Given the description of an element on the screen output the (x, y) to click on. 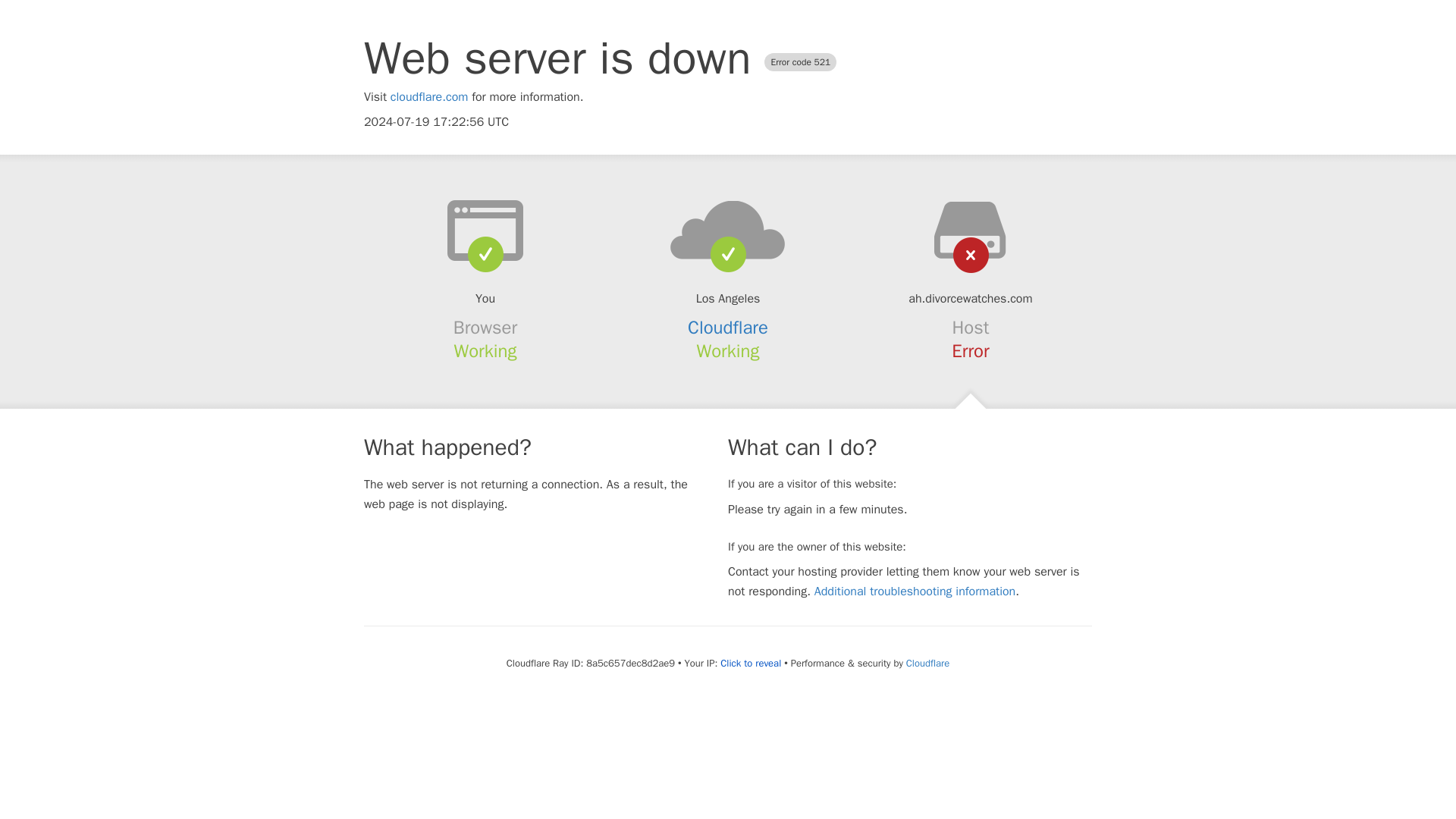
cloudflare.com (429, 96)
Click to reveal (750, 663)
Cloudflare (727, 327)
Cloudflare (927, 662)
Additional troubleshooting information (913, 590)
